Given the description of an element on the screen output the (x, y) to click on. 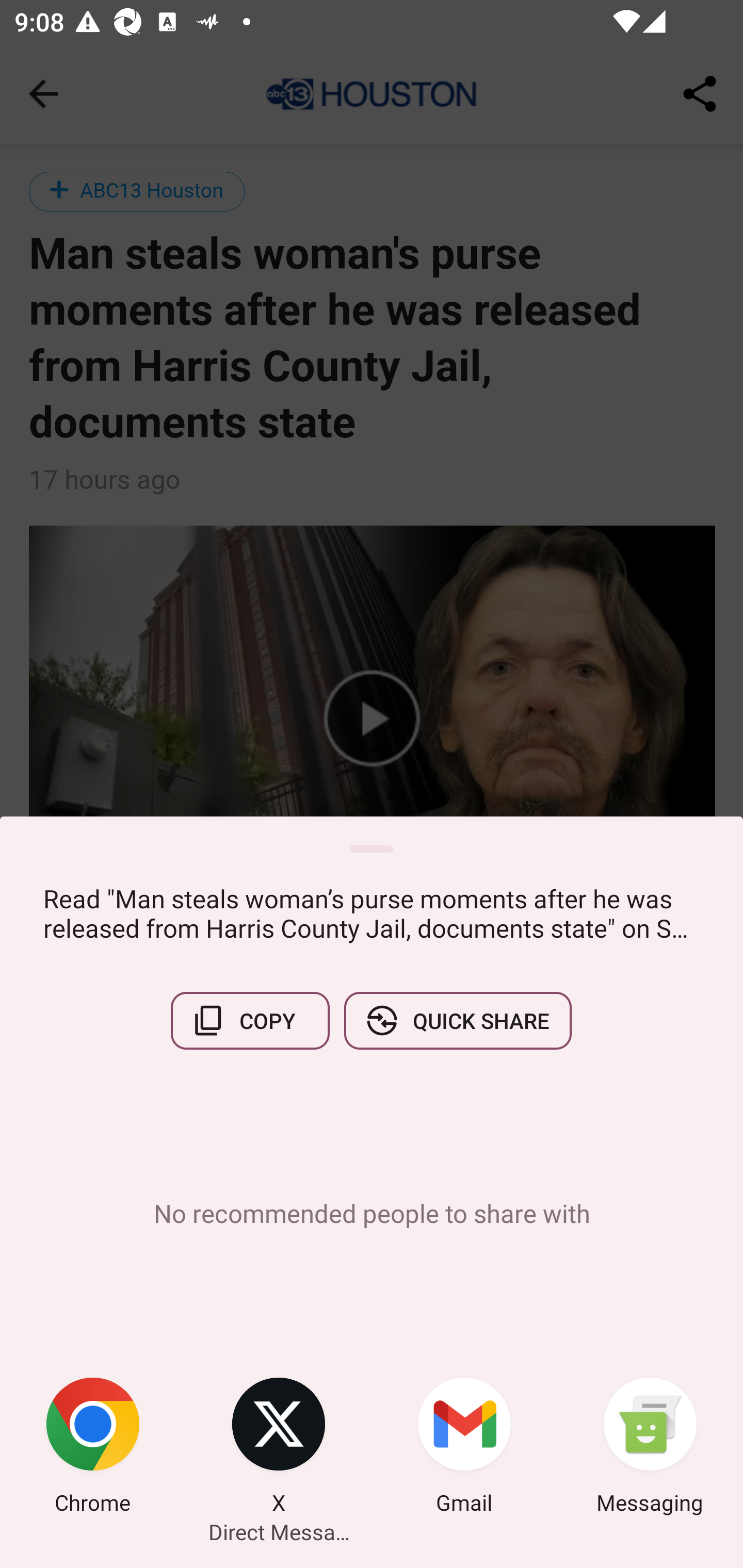
COPY (249, 1020)
QUICK SHARE (457, 1020)
Chrome (92, 1448)
X Direct Message (278, 1448)
Gmail (464, 1448)
Messaging (650, 1448)
